Given the description of an element on the screen output the (x, y) to click on. 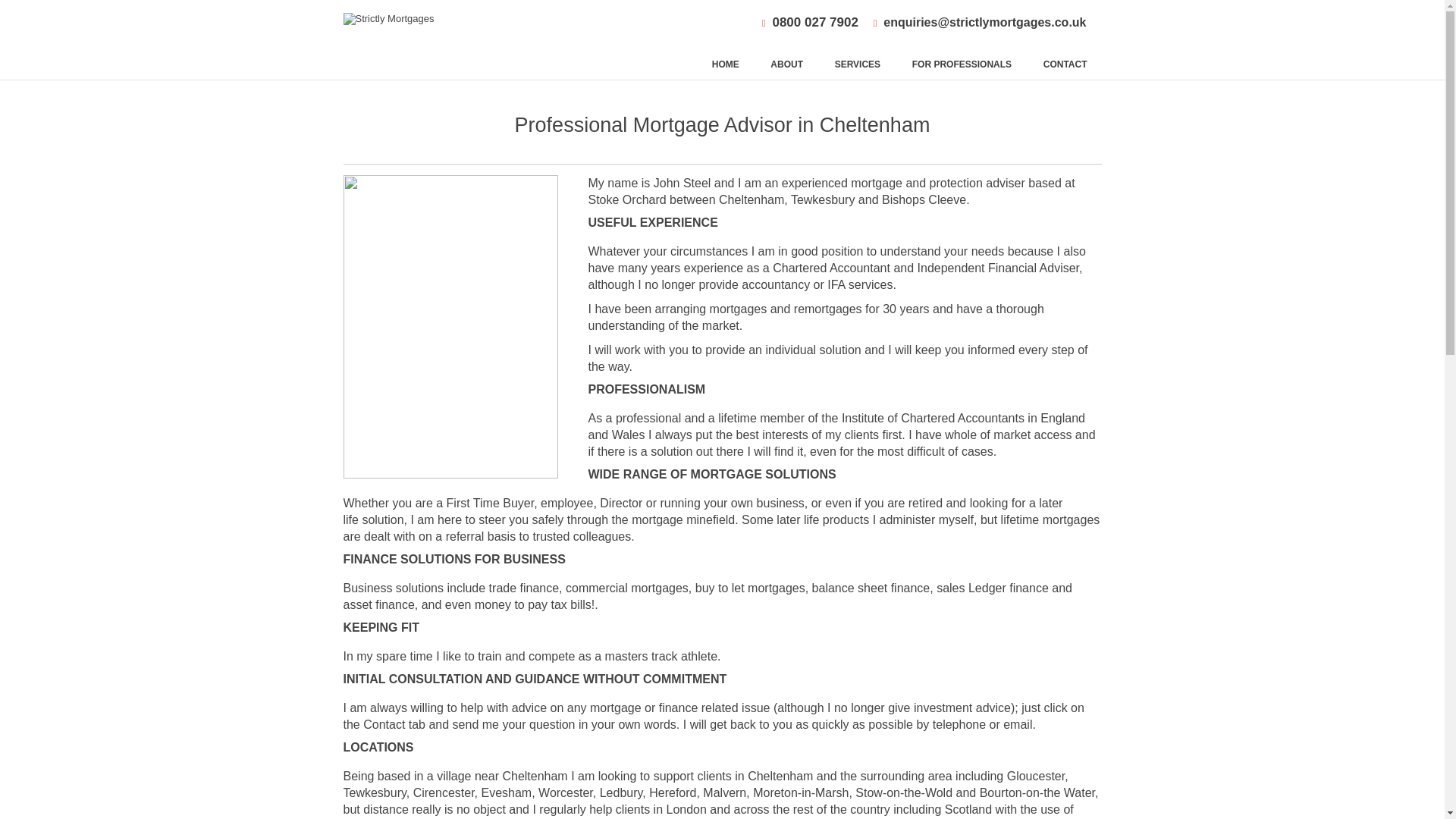
FOR PROFESSIONALS (961, 64)
Strictly Mortgages (451, 39)
HOME (725, 64)
ABOUT (786, 64)
SERVICES (857, 64)
